Given the description of an element on the screen output the (x, y) to click on. 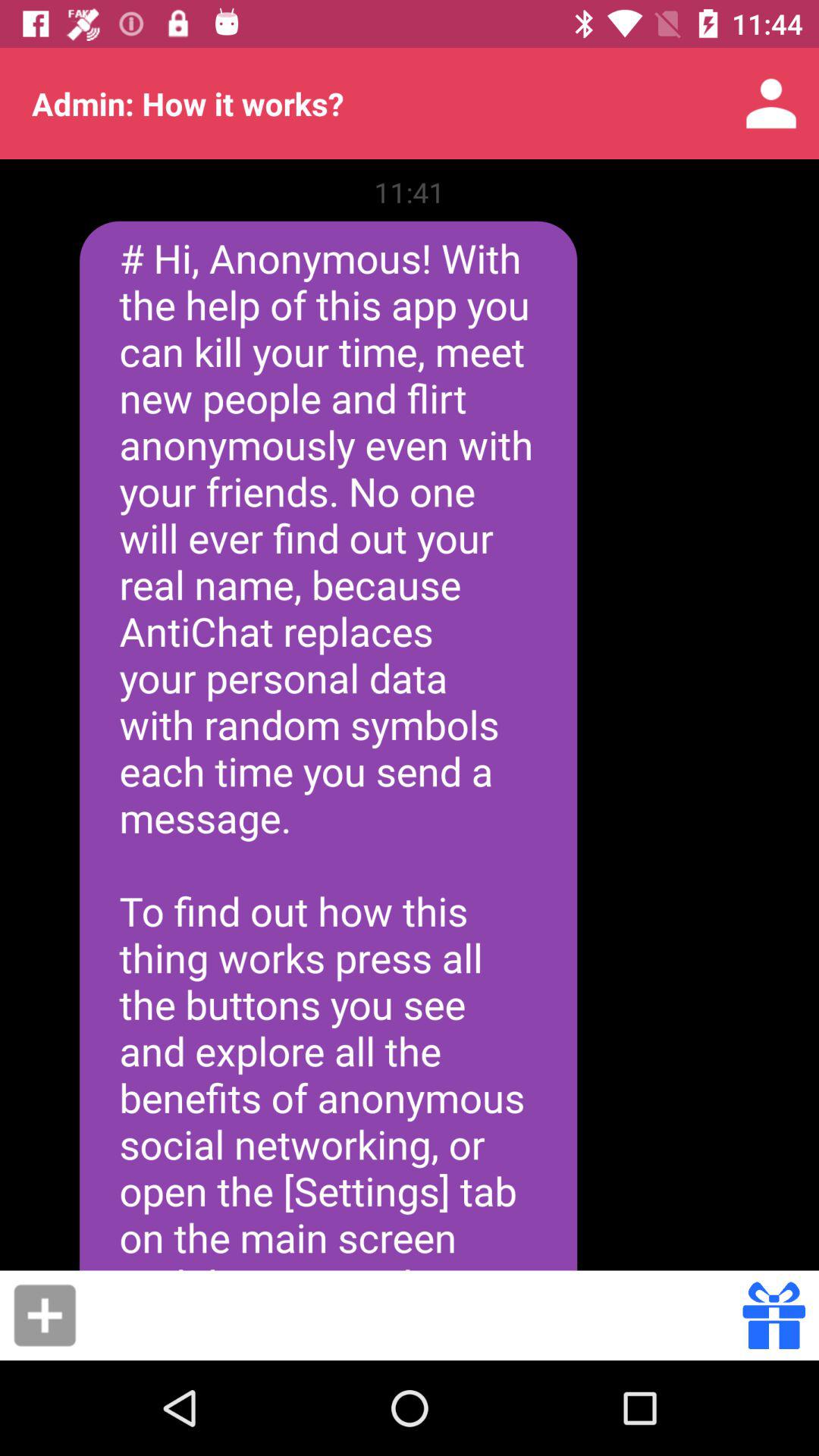
add button (44, 1315)
